Given the description of an element on the screen output the (x, y) to click on. 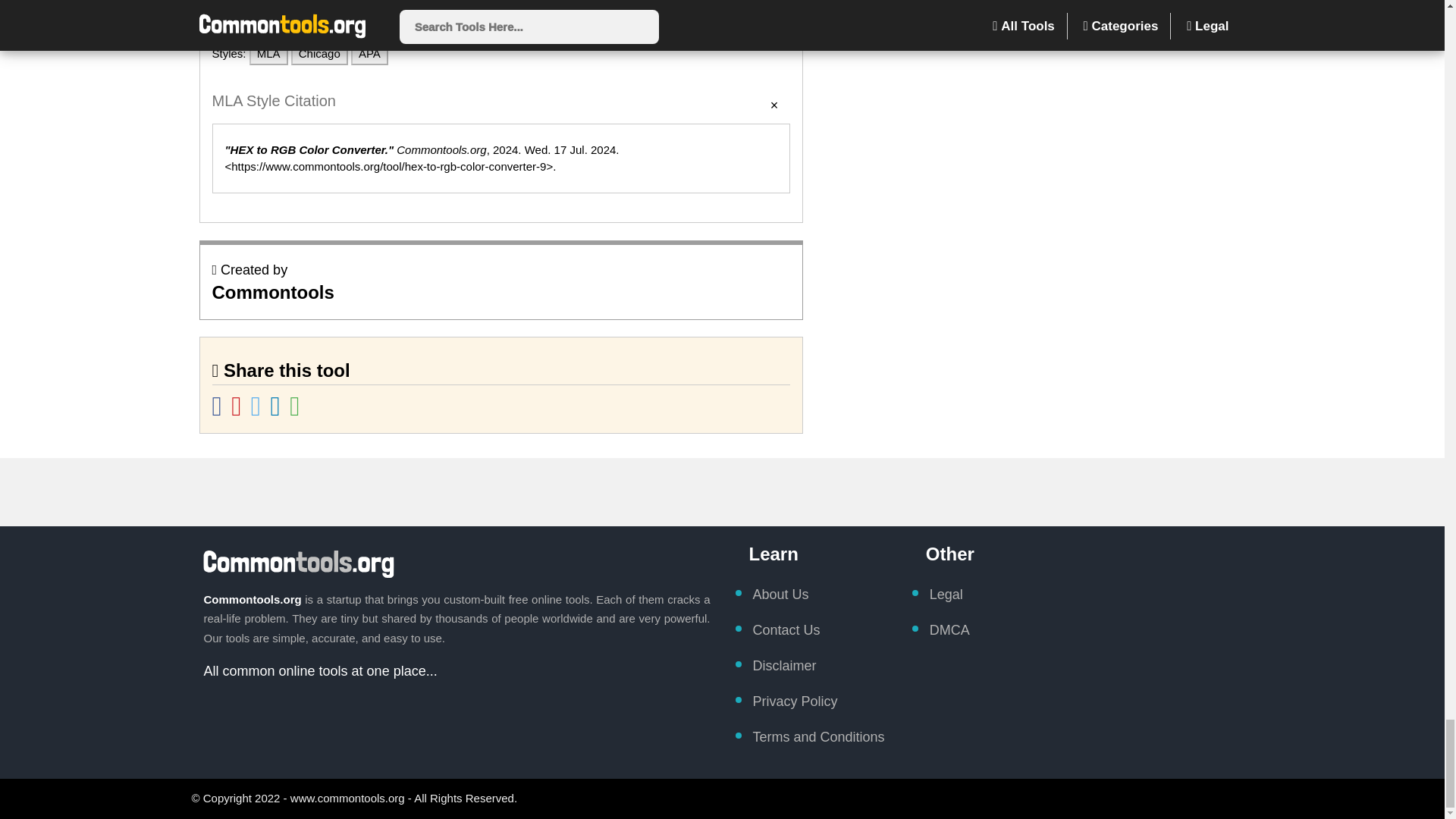
APA (369, 54)
Share on Facebook (218, 410)
Chicago (319, 54)
Share on Linkedin (276, 410)
MLA (268, 54)
Share on Twitter (256, 410)
